Given the description of an element on the screen output the (x, y) to click on. 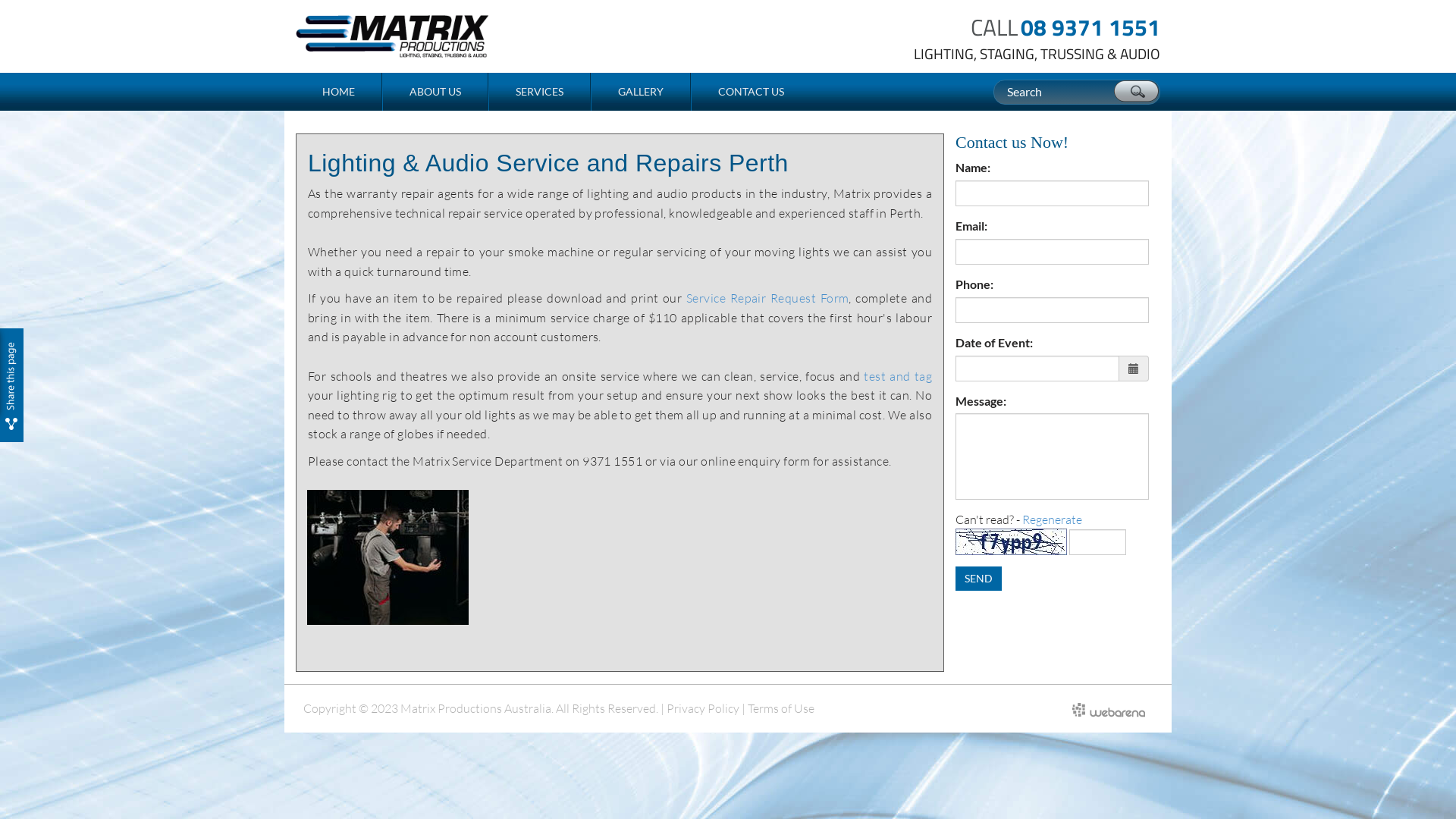
test and tag Element type: text (897, 375)
Web Design Perth Australia Element type: hover (1108, 706)
CONTACT US Element type: text (750, 91)
ABOUT US Element type: text (435, 91)
Privacy Policy Element type: text (702, 707)
Regenerate Element type: text (1052, 519)
HOME Element type: text (338, 91)
SEND Element type: text (978, 578)
GALLERY Element type: text (640, 91)
SERVICES Element type: text (539, 91)
08 9371 1551 Element type: text (1090, 26)
Service Repair Request Form Element type: text (767, 297)
Terms of Use Element type: text (780, 707)
